Given the description of an element on the screen output the (x, y) to click on. 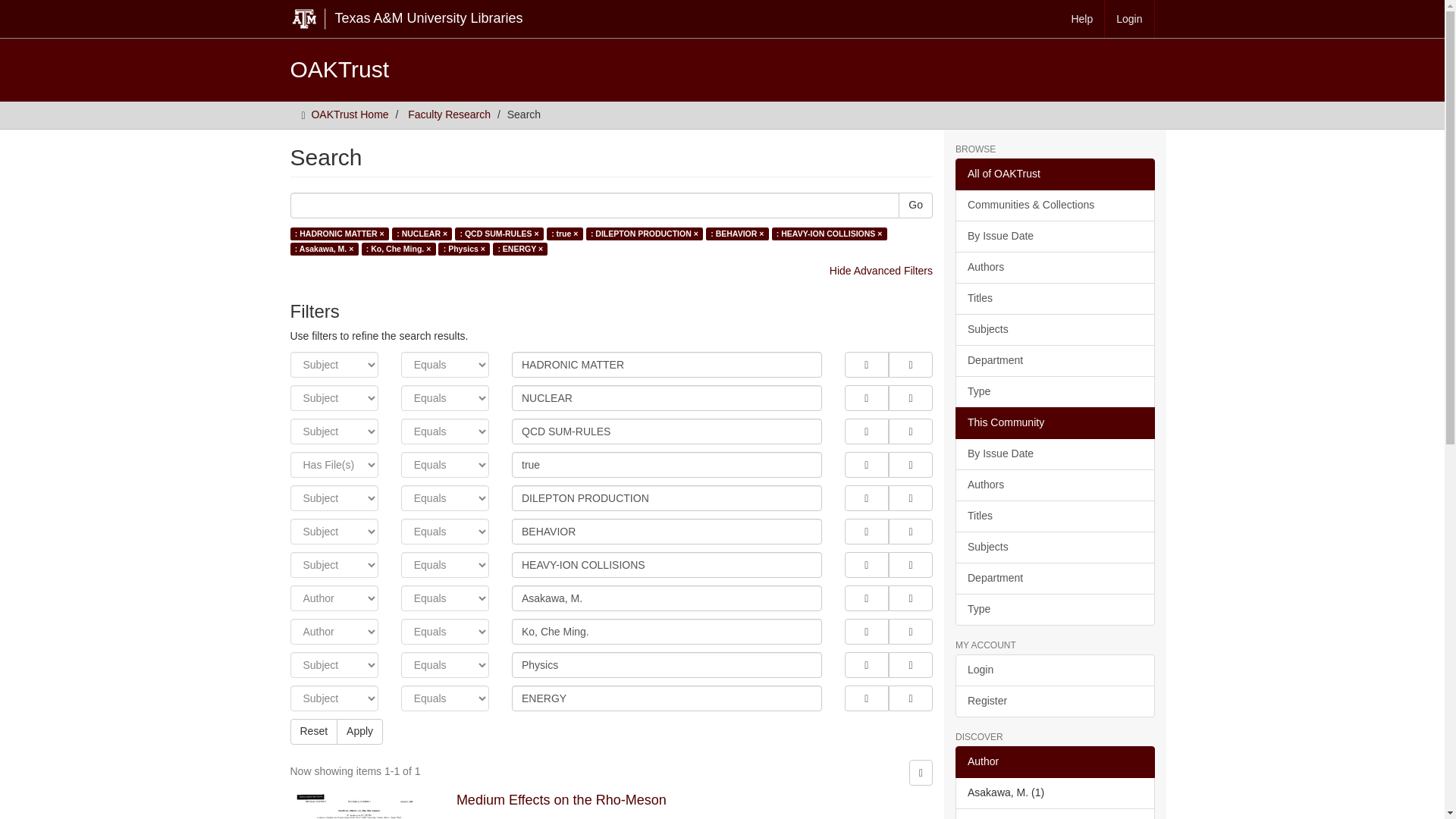
Hide Advanced Filters (881, 270)
Remove (910, 464)
Add Filter (866, 364)
Remove (910, 631)
Remove (910, 531)
Physics (667, 664)
Add Filter (866, 597)
Add Filter (866, 565)
Login (1129, 18)
Add Filter (866, 498)
Faculty Research (448, 114)
Ko, Che Ming. (667, 631)
Add Filter (866, 631)
HEAVY-ION COLLISIONS (667, 565)
Remove (910, 565)
